Given the description of an element on the screen output the (x, y) to click on. 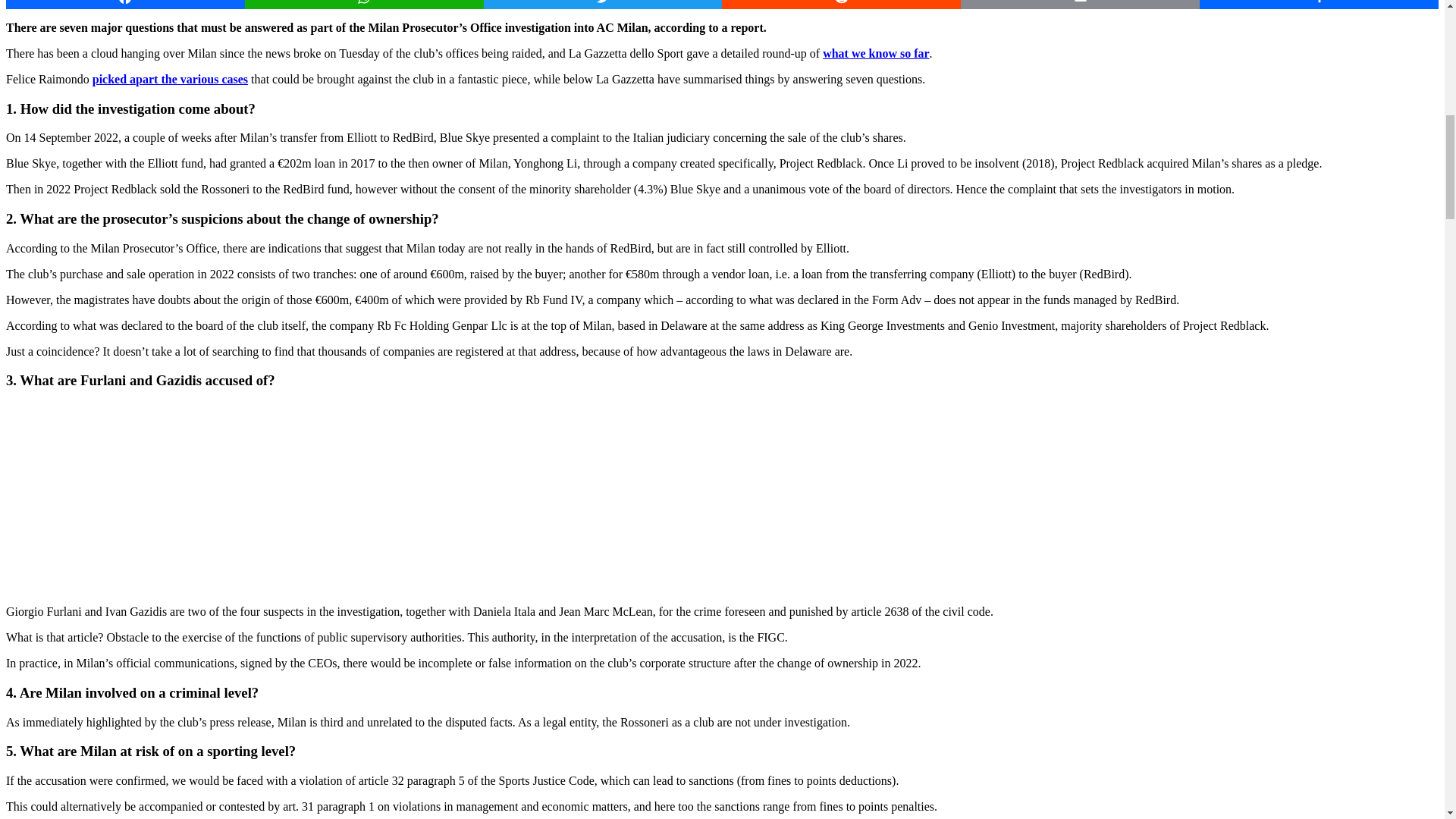
Reddit (841, 4)
Facebook (124, 4)
Email (1079, 4)
WhatsApp (363, 4)
Twitter (602, 4)
